Given the description of an element on the screen output the (x, y) to click on. 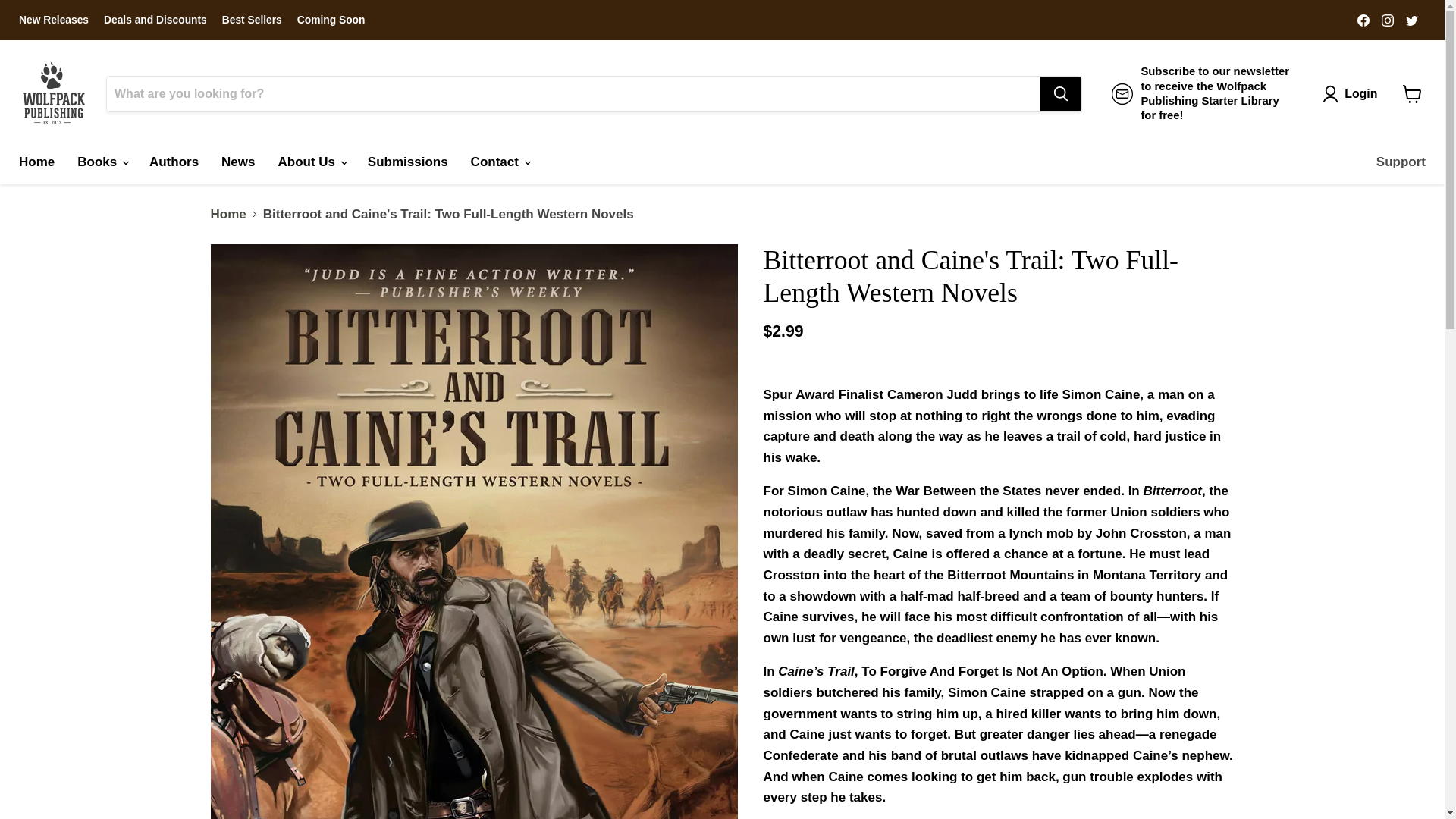
Facebook (1363, 19)
Login (1353, 93)
Home (36, 161)
Instagram (1387, 19)
Find us on Instagram (1387, 19)
Coming Soon (331, 20)
New Releases (53, 20)
Twitter (1411, 19)
Find us on Facebook (1363, 19)
